Given the description of an element on the screen output the (x, y) to click on. 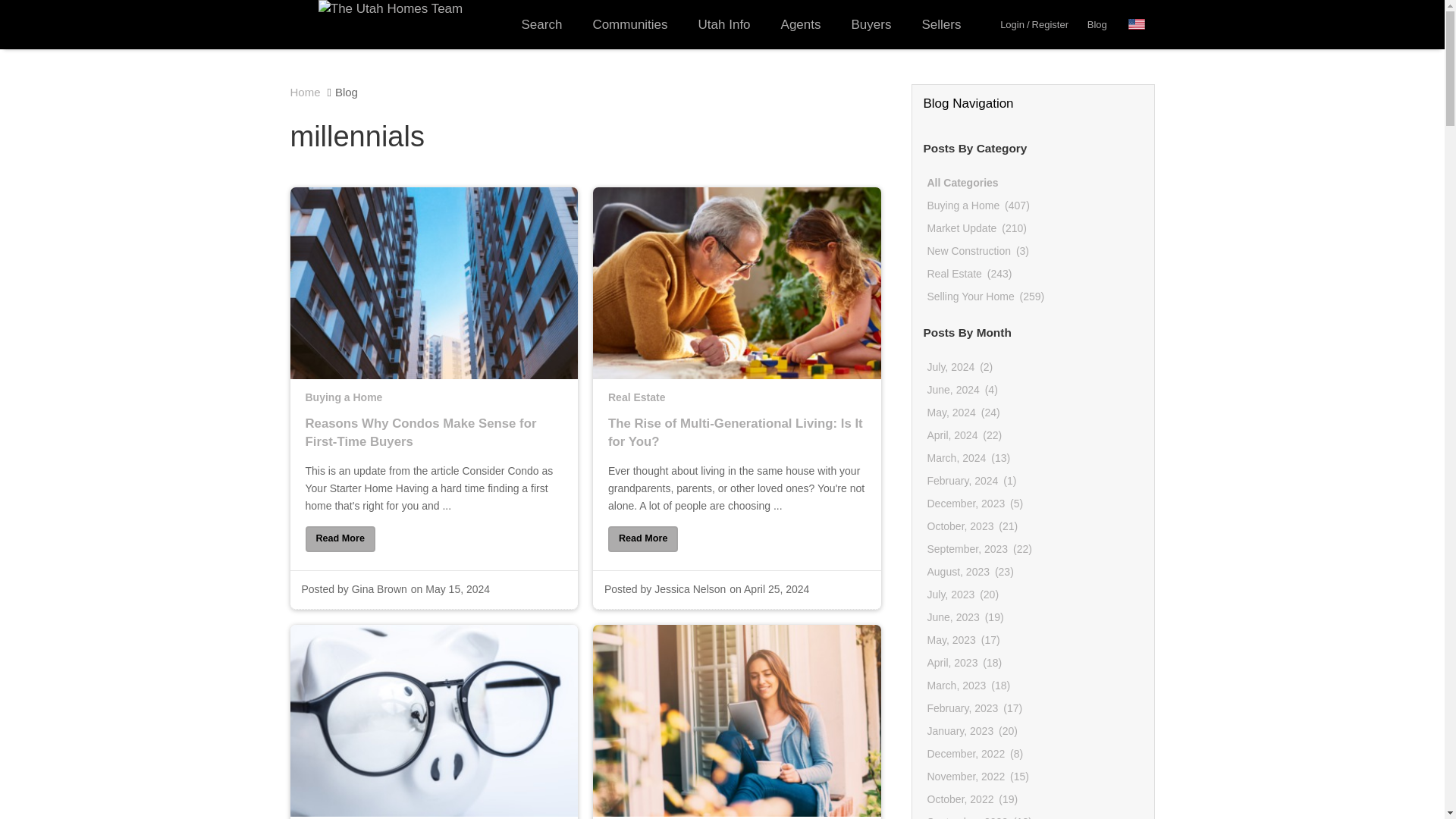
Reasons Why Condos Make Sense for First-Time Buyers (433, 444)
Reasons Why Condos Make Sense for First-Time Buyers (339, 539)
The Rise of Multi-Generational Living: Is It for You? (737, 444)
Select Language (1140, 24)
Search (542, 24)
Agents (800, 24)
Communities (629, 24)
The Rise of Multi-Generational Living: Is It for You? (643, 539)
Sellers (940, 24)
Buyers (871, 24)
